Given the description of an element on the screen output the (x, y) to click on. 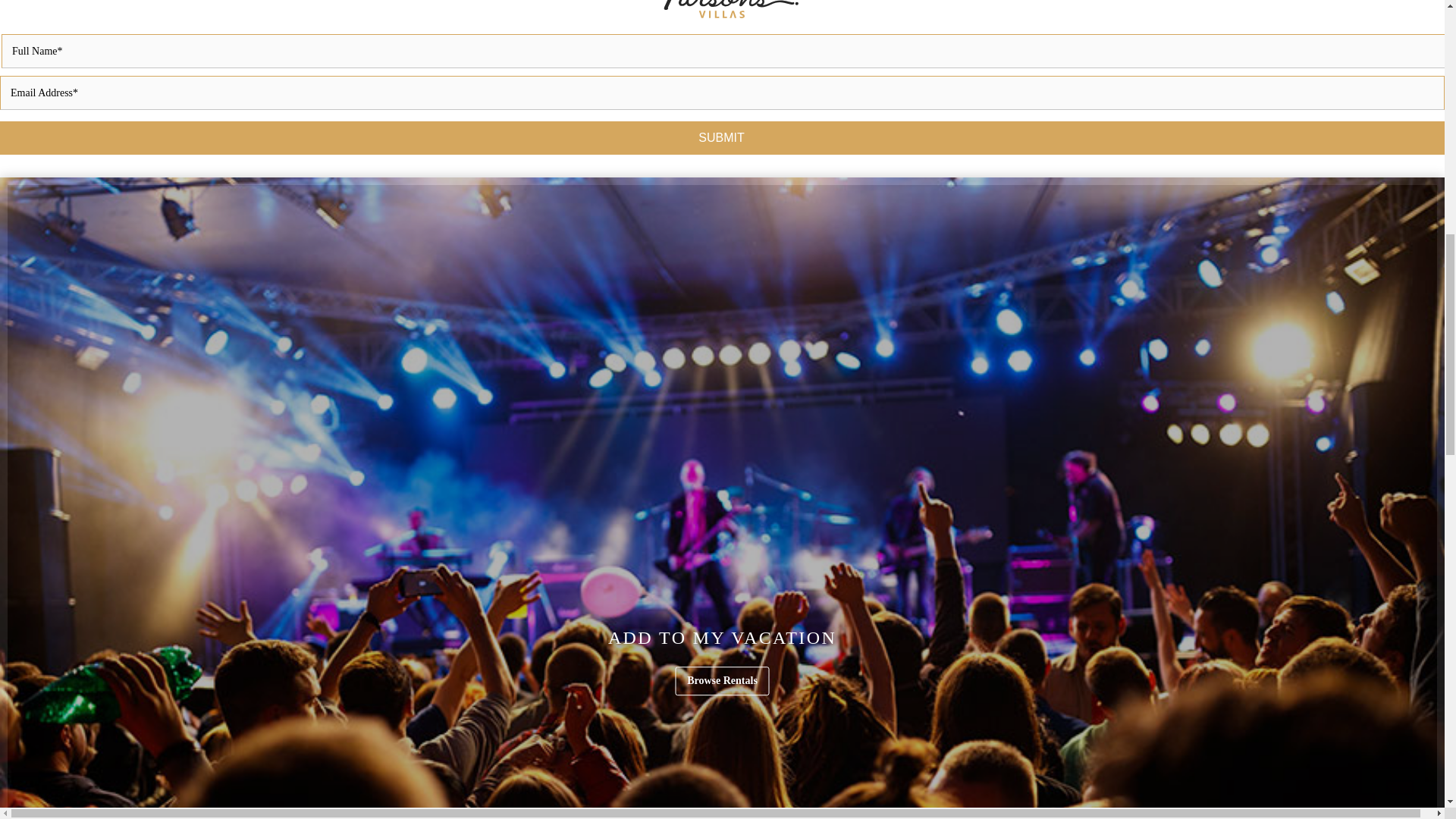
Submit (722, 137)
